Given the description of an element on the screen output the (x, y) to click on. 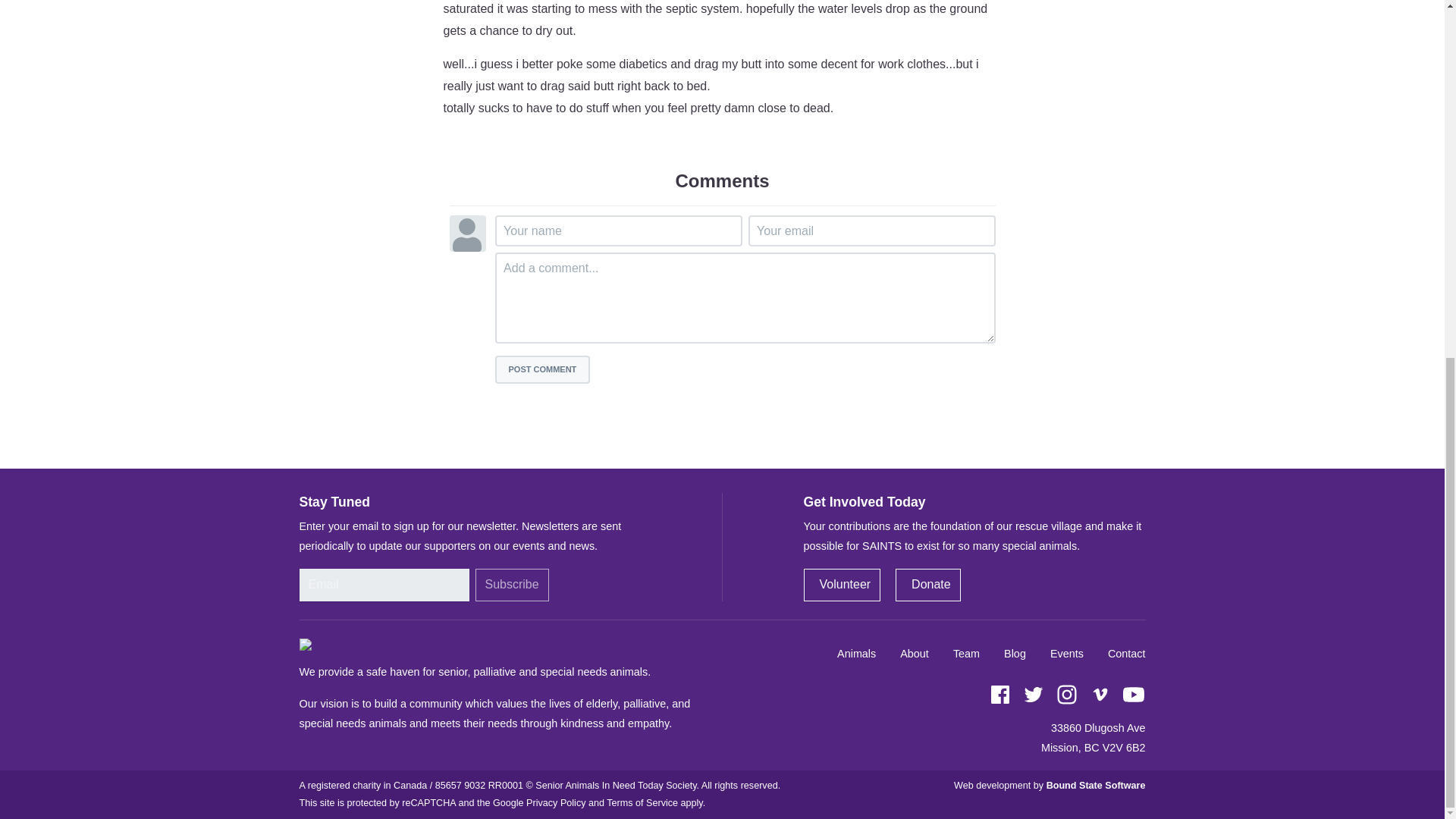
Events (1067, 654)
Web development by Bound State Software (1048, 785)
Contact (1126, 654)
POST COMMENT (542, 369)
Volunteer (841, 584)
Subscribe (511, 584)
Animals (856, 654)
About (914, 654)
Donate (927, 584)
Blog (1014, 654)
Terms of Service (642, 802)
Team (965, 654)
Privacy Policy (555, 802)
